Given the description of an element on the screen output the (x, y) to click on. 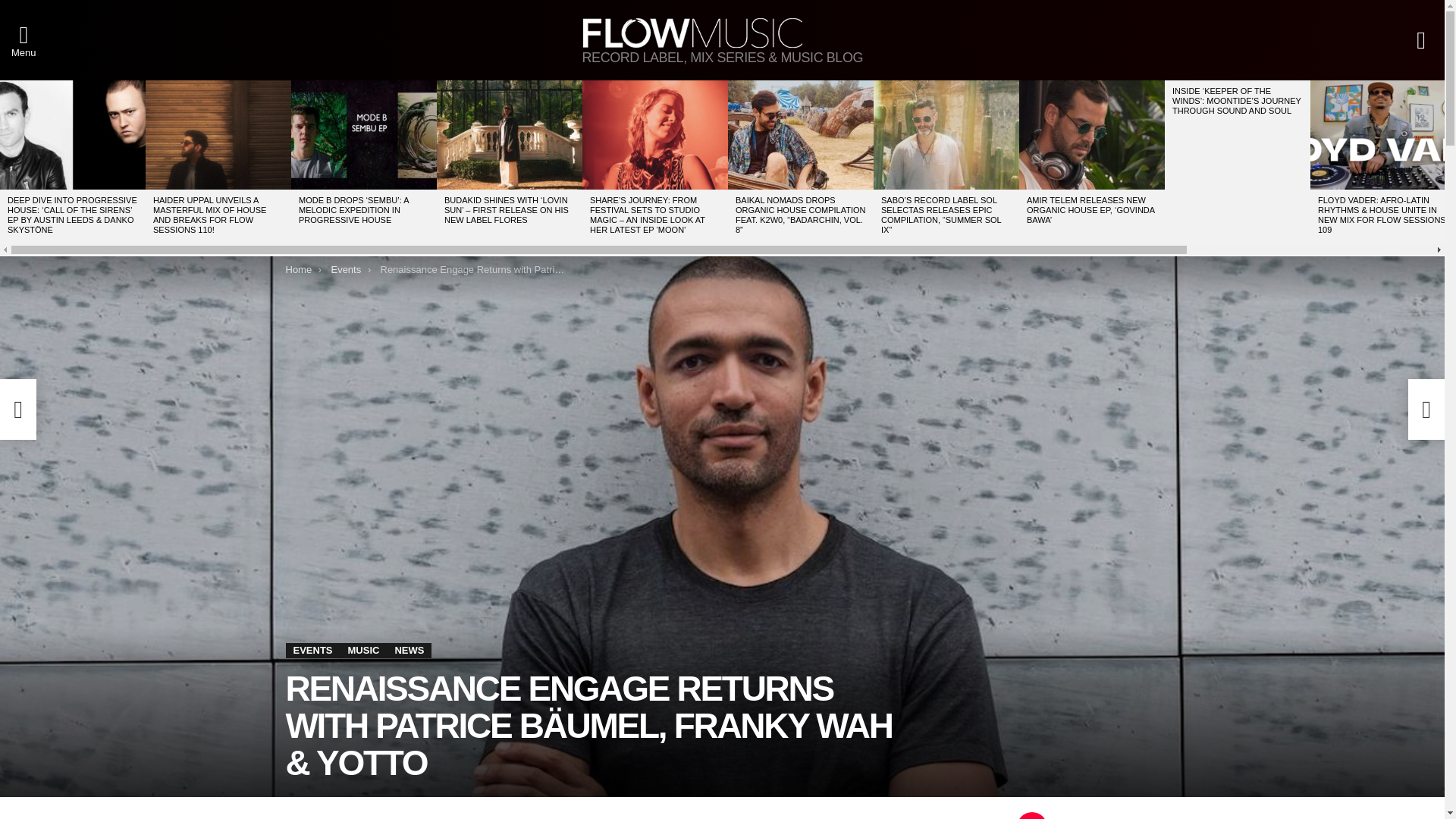
NEWS (408, 650)
MUSIC (363, 650)
Events (345, 269)
Home (298, 269)
EVENTS (312, 650)
